Given the description of an element on the screen output the (x, y) to click on. 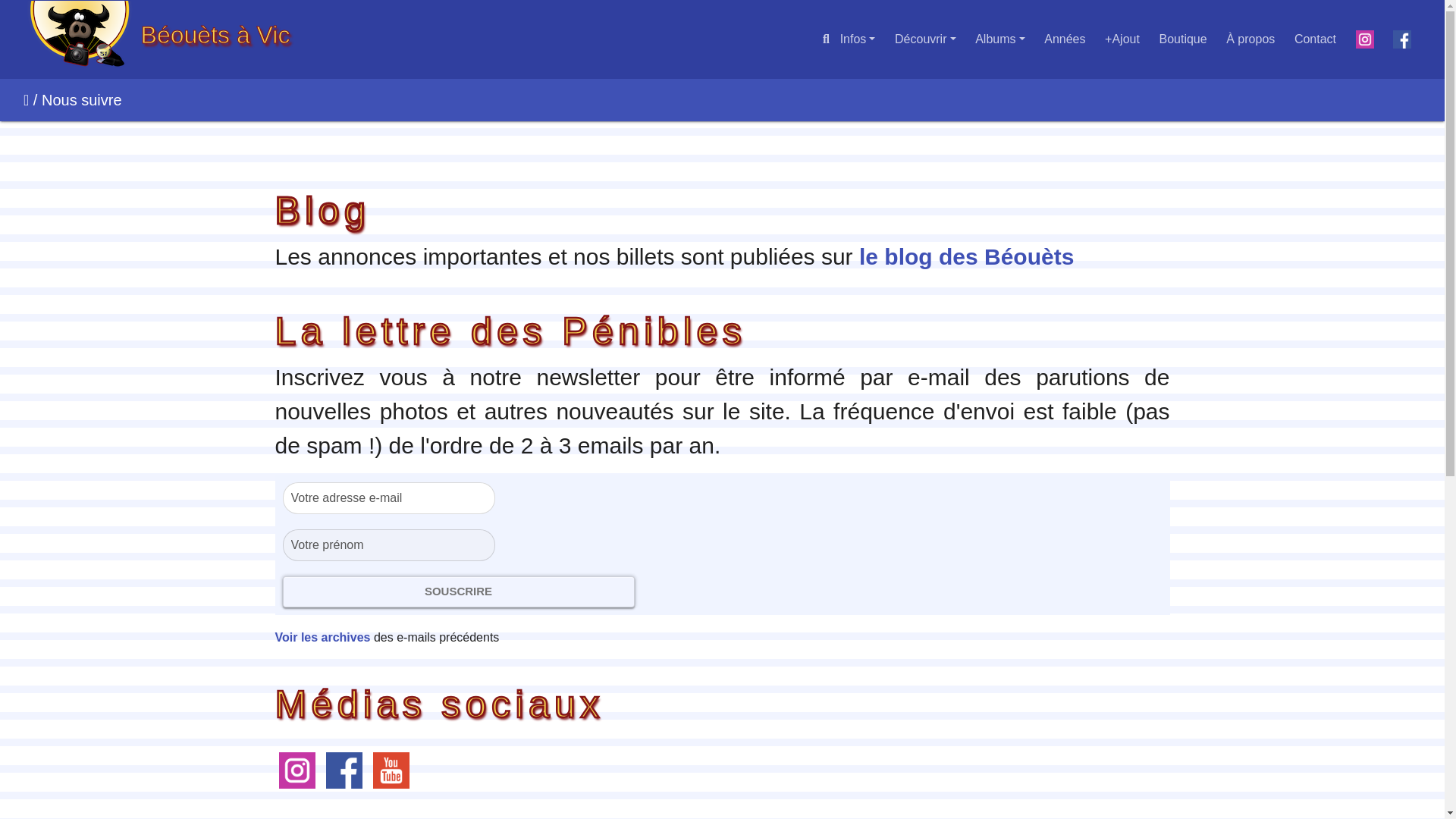
Votre adresse e-mail (388, 498)
Contact (1314, 38)
Boutique (1183, 38)
SOUSCRIRE (457, 591)
Infos (857, 38)
Albums (999, 38)
